Given the description of an element on the screen output the (x, y) to click on. 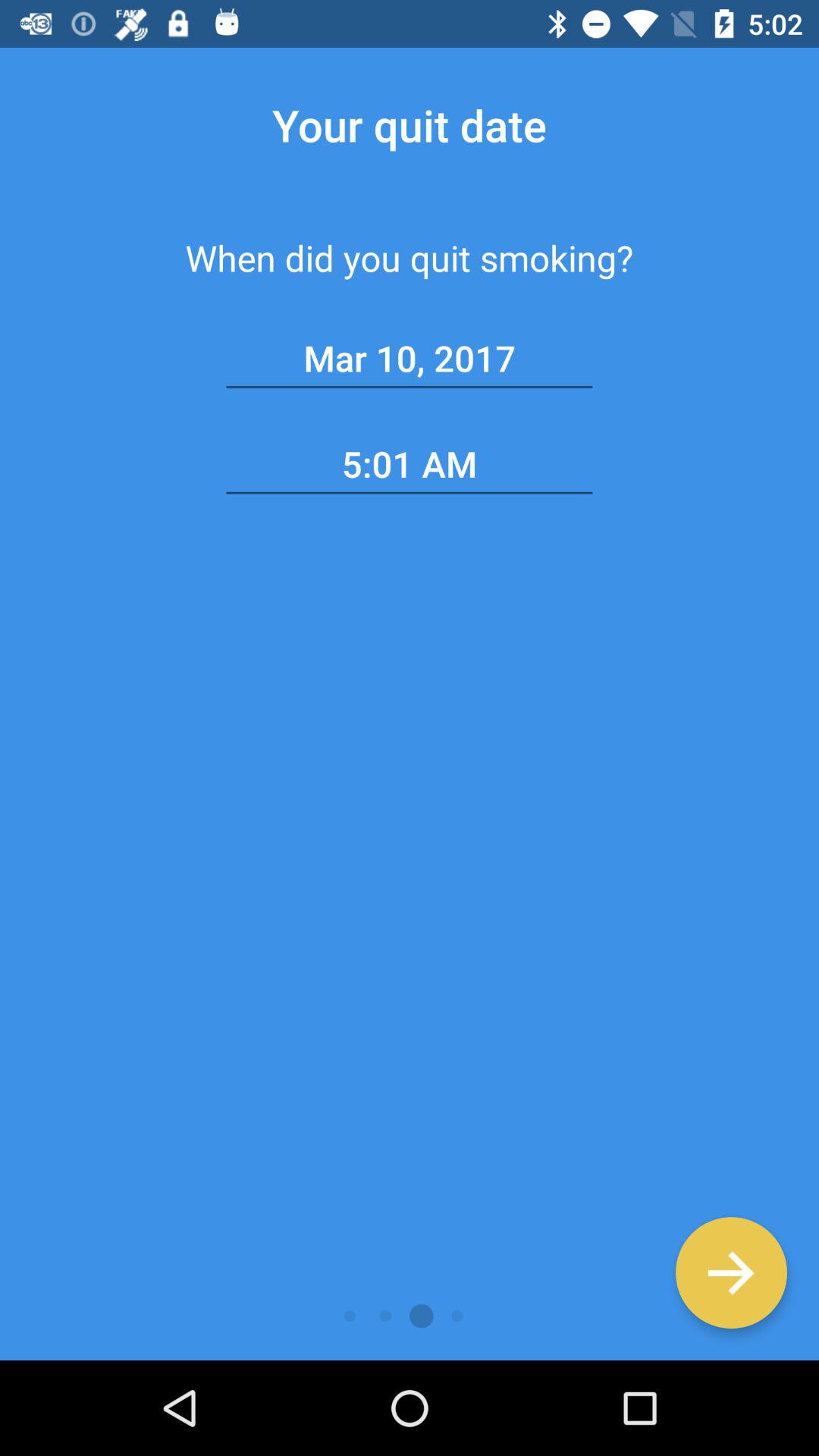
launch the icon below mar 10, 2017 item (409, 464)
